Given the description of an element on the screen output the (x, y) to click on. 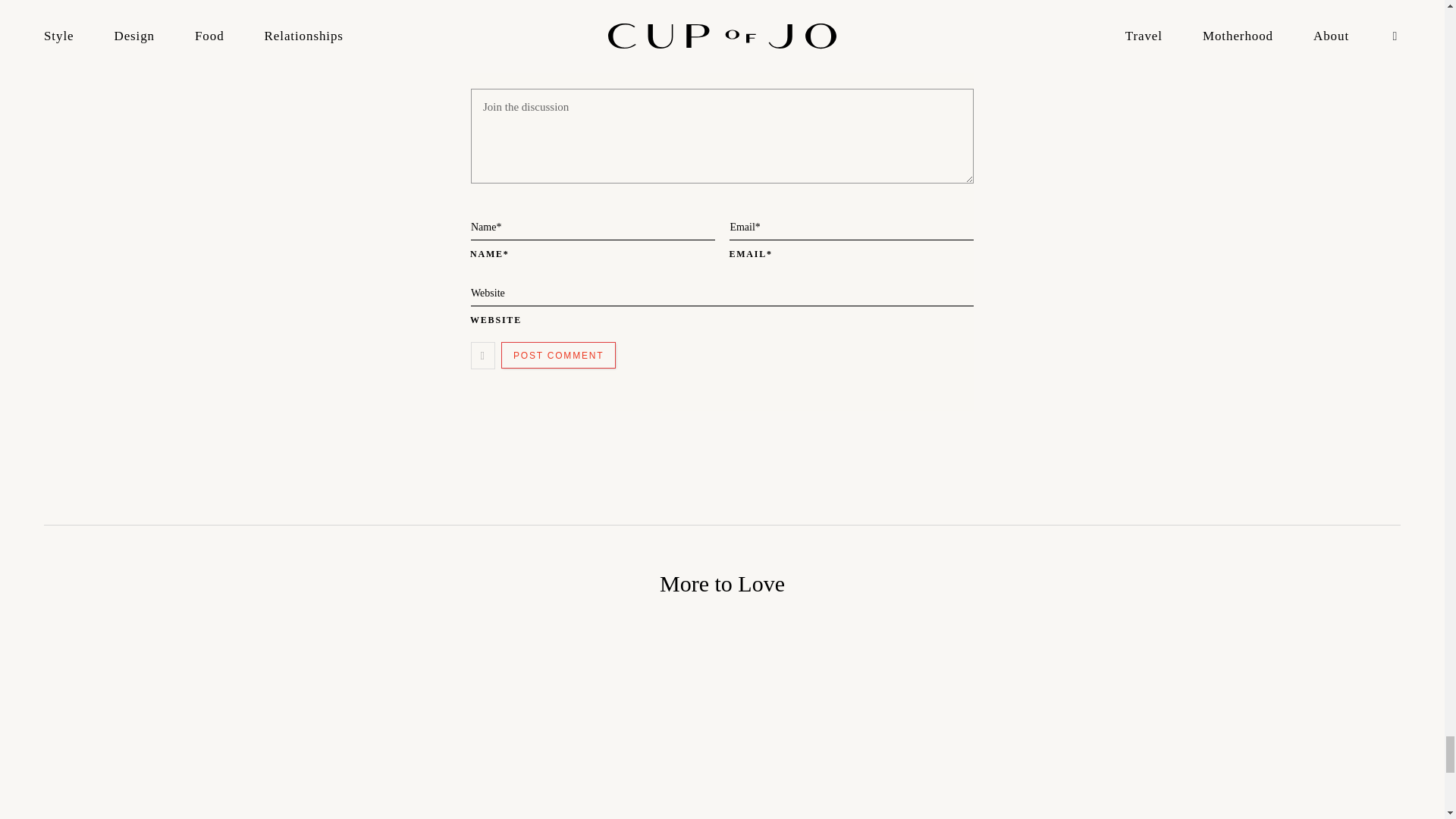
Post Comment (557, 355)
